Given the description of an element on the screen output the (x, y) to click on. 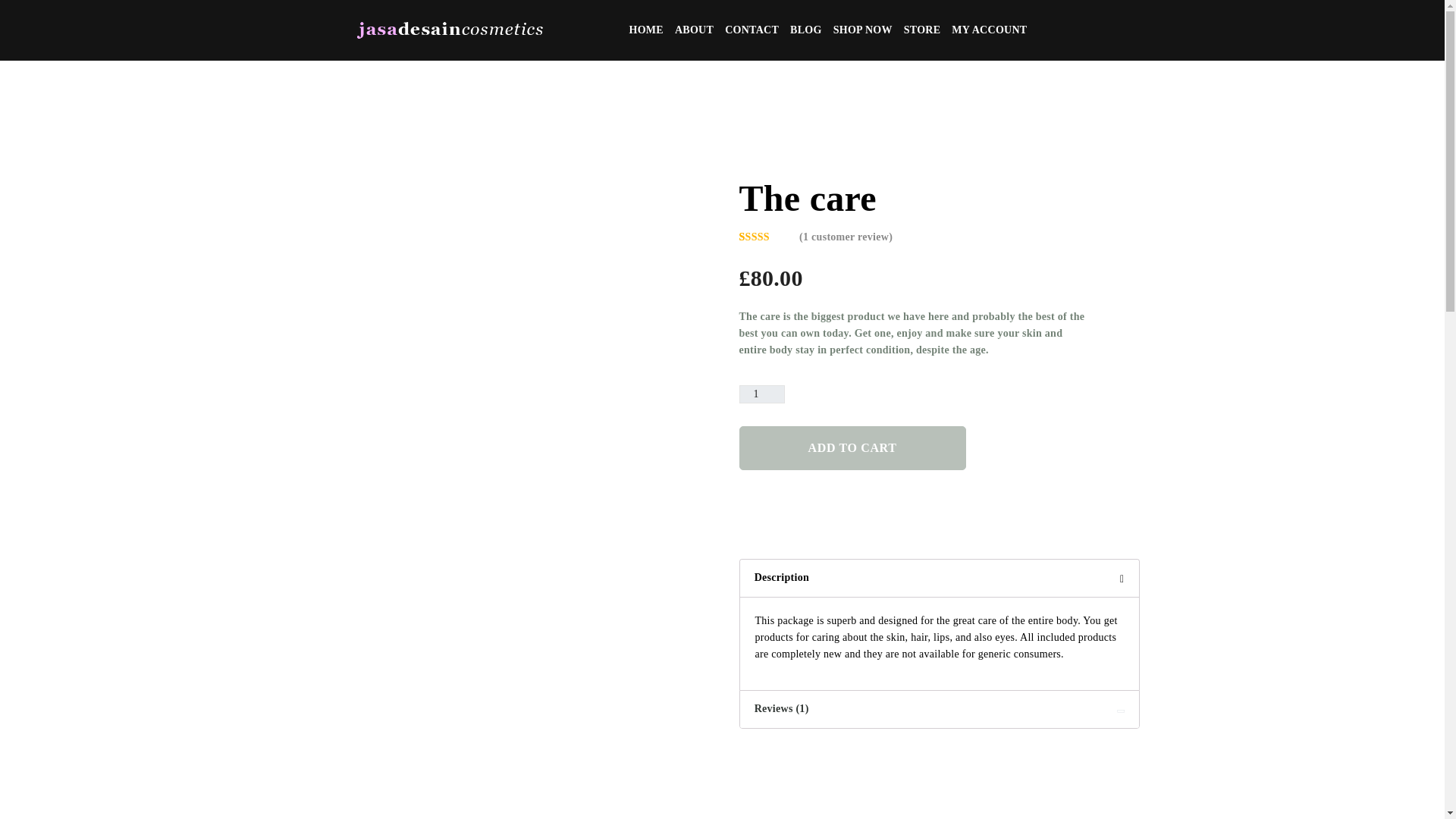
MY ACCOUNT (989, 30)
HOME (645, 30)
ABOUT (694, 30)
ADD TO CART (851, 447)
CONTACT (751, 30)
1 (761, 393)
BLOG (805, 30)
SHOP NOW (862, 30)
Qty (761, 393)
STORE (922, 30)
